Given the description of an element on the screen output the (x, y) to click on. 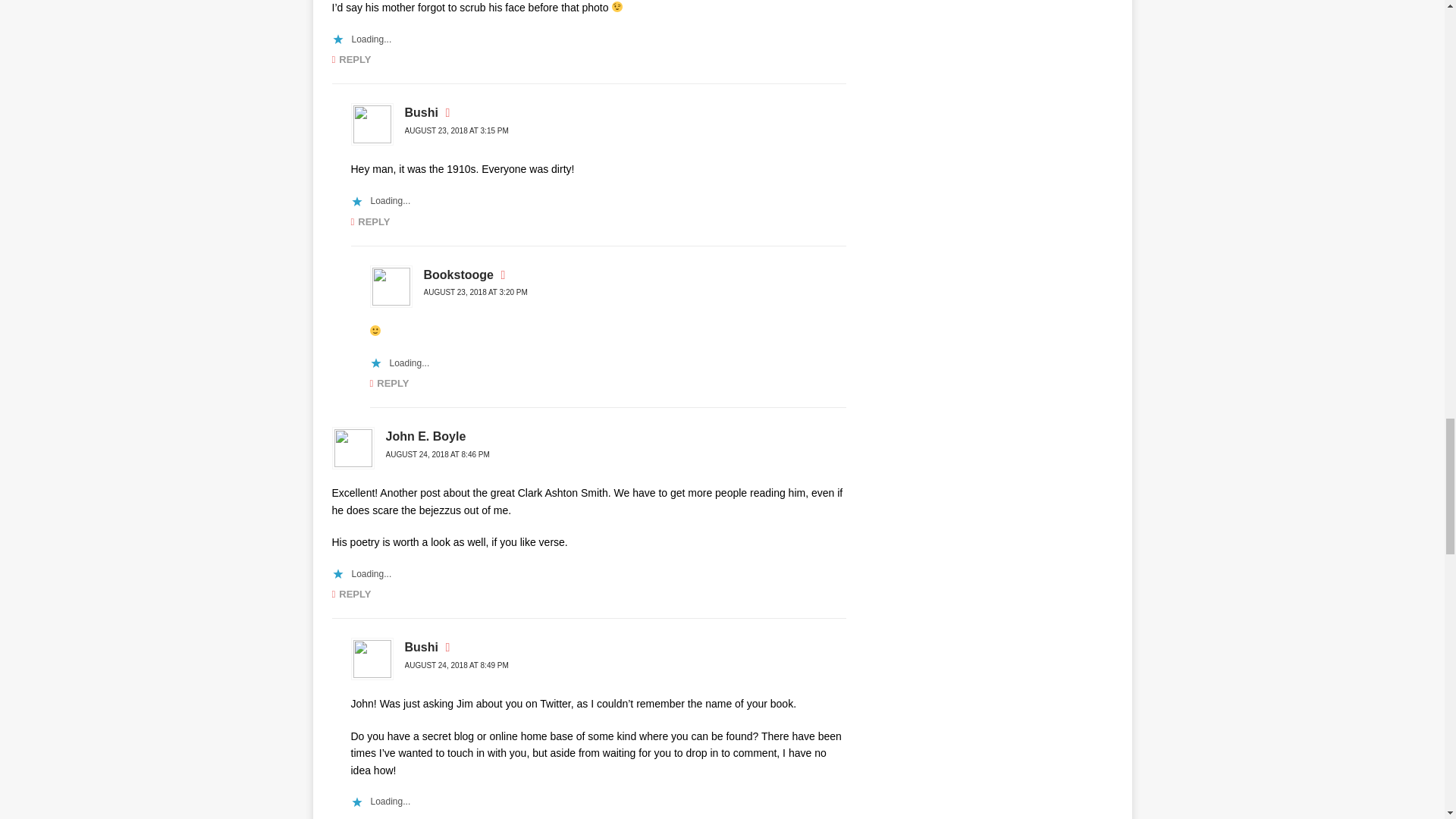
Bookstooge (458, 274)
AUGUST 23, 2018 AT 3:15 PM (456, 130)
REPLY (389, 383)
REPLY (370, 221)
REPLY (351, 59)
AUGUST 23, 2018 AT 3:20 PM (475, 292)
